Given the description of an element on the screen output the (x, y) to click on. 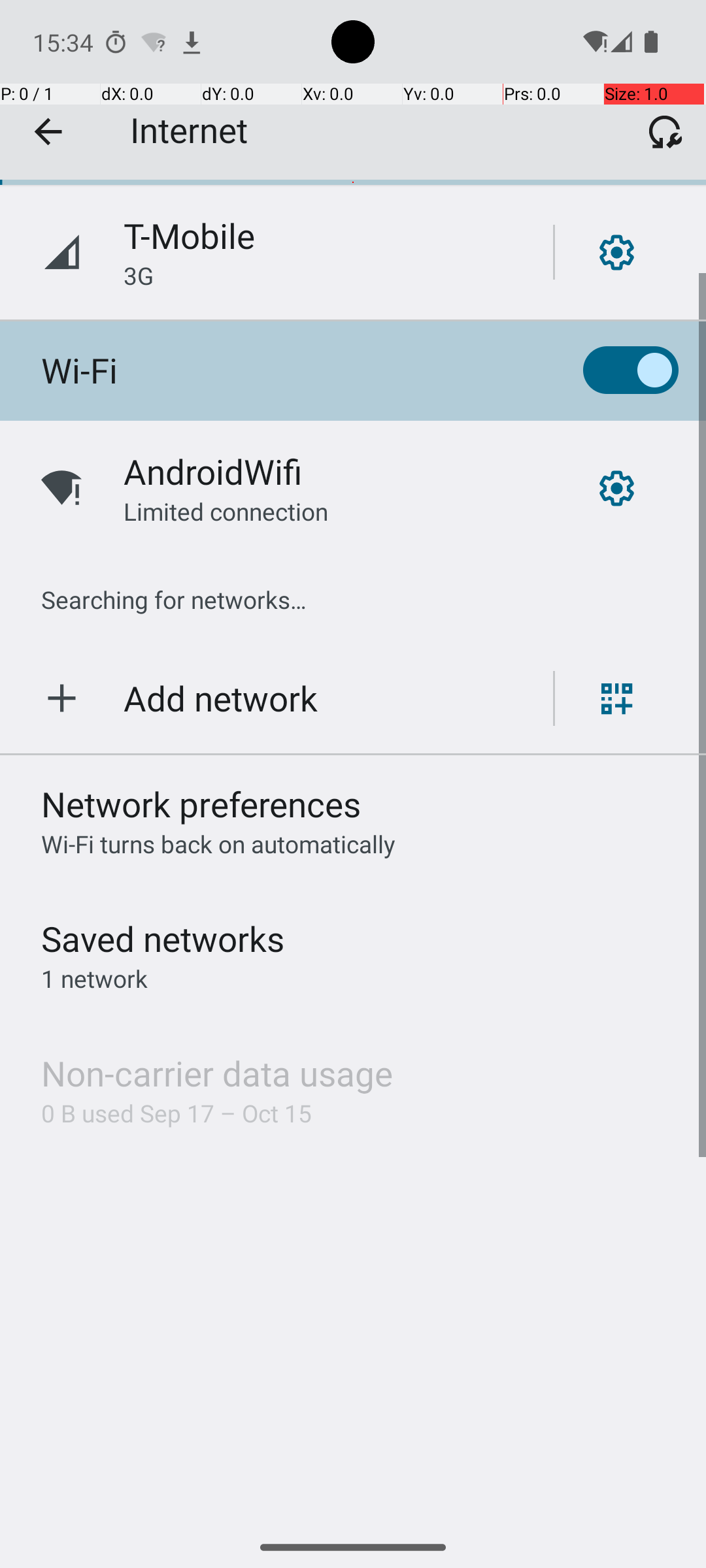
AndroidWifi,Limited connection,Wifi signal full.,Open network Element type: android.widget.LinearLayout (353, 487)
AndroidWifi Element type: android.widget.TextView (212, 471)
Limited connection Element type: android.widget.TextView (225, 510)
Searching for networks… Element type: android.widget.TextView (173, 599)
Add network Element type: android.widget.TextView (220, 697)
Scan QR code Element type: android.widget.ImageButton (616, 698)
Wi‑Fi turns back on automatically Element type: android.widget.TextView (218, 843)
0 B used Sep 17 – Oct 15 Element type: android.widget.TextView (176, 1112)
